Given the description of an element on the screen output the (x, y) to click on. 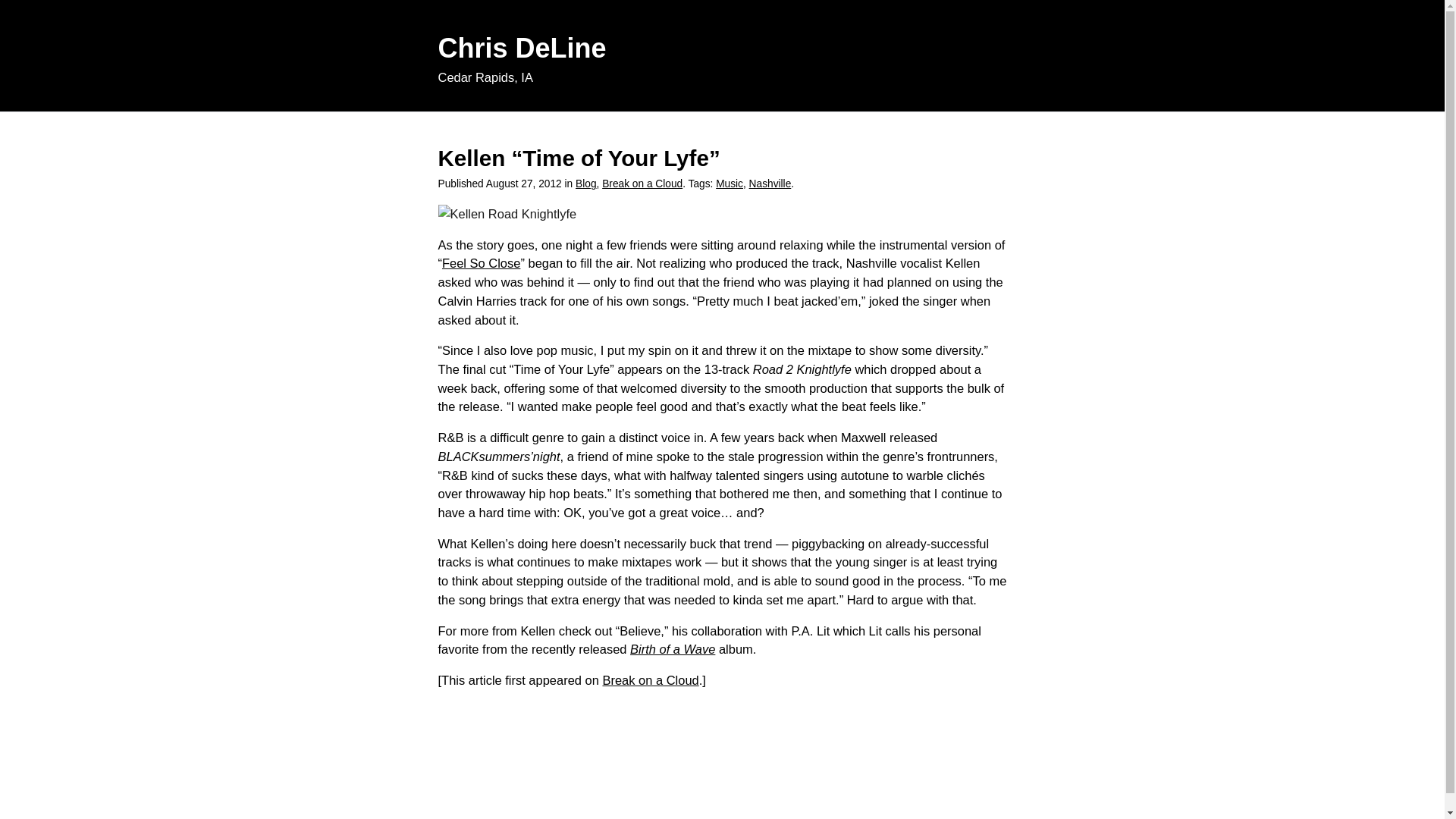
Nashville (770, 183)
Music (729, 183)
Break on a Cloud (650, 680)
Blog (585, 183)
Chris DeLine (522, 47)
Break on a Cloud (642, 183)
Feel So Close (480, 263)
Birth of a Wave (672, 649)
